Given the description of an element on the screen output the (x, y) to click on. 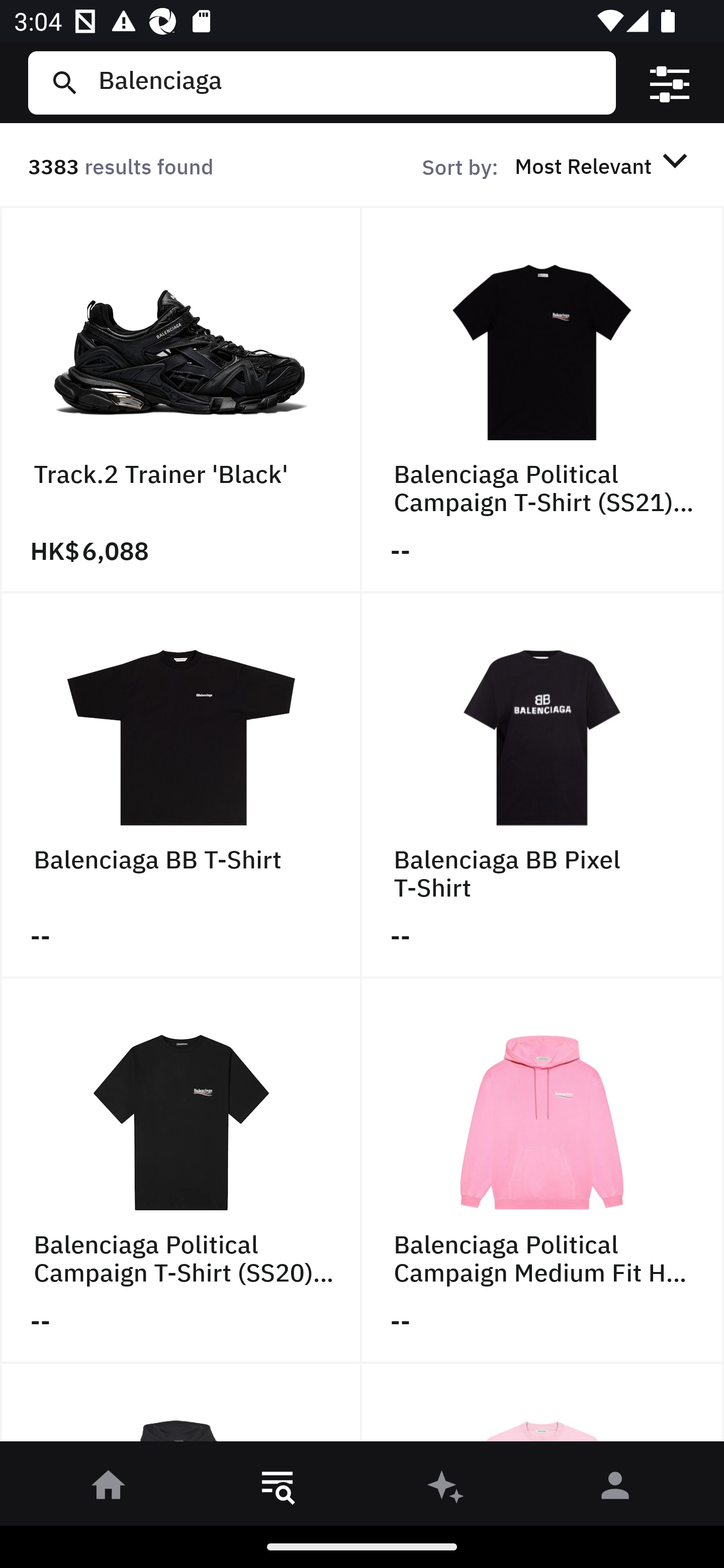
Balenciaga (349, 82)
 (669, 82)
Most Relevant  (604, 165)
Track.2 Trainer 'Black' HK$ 6,088 (181, 399)
Balenciaga BB T-Shirt -- (181, 785)
Balenciaga BB Pixel T-Shirt -- (543, 785)
Balenciaga Political Campaign Medium Fit Hoodie -- (543, 1171)
󰋜 (108, 1488)
󱎸 (277, 1488)
󰫢 (446, 1488)
󰀄 (615, 1488)
